Given the description of an element on the screen output the (x, y) to click on. 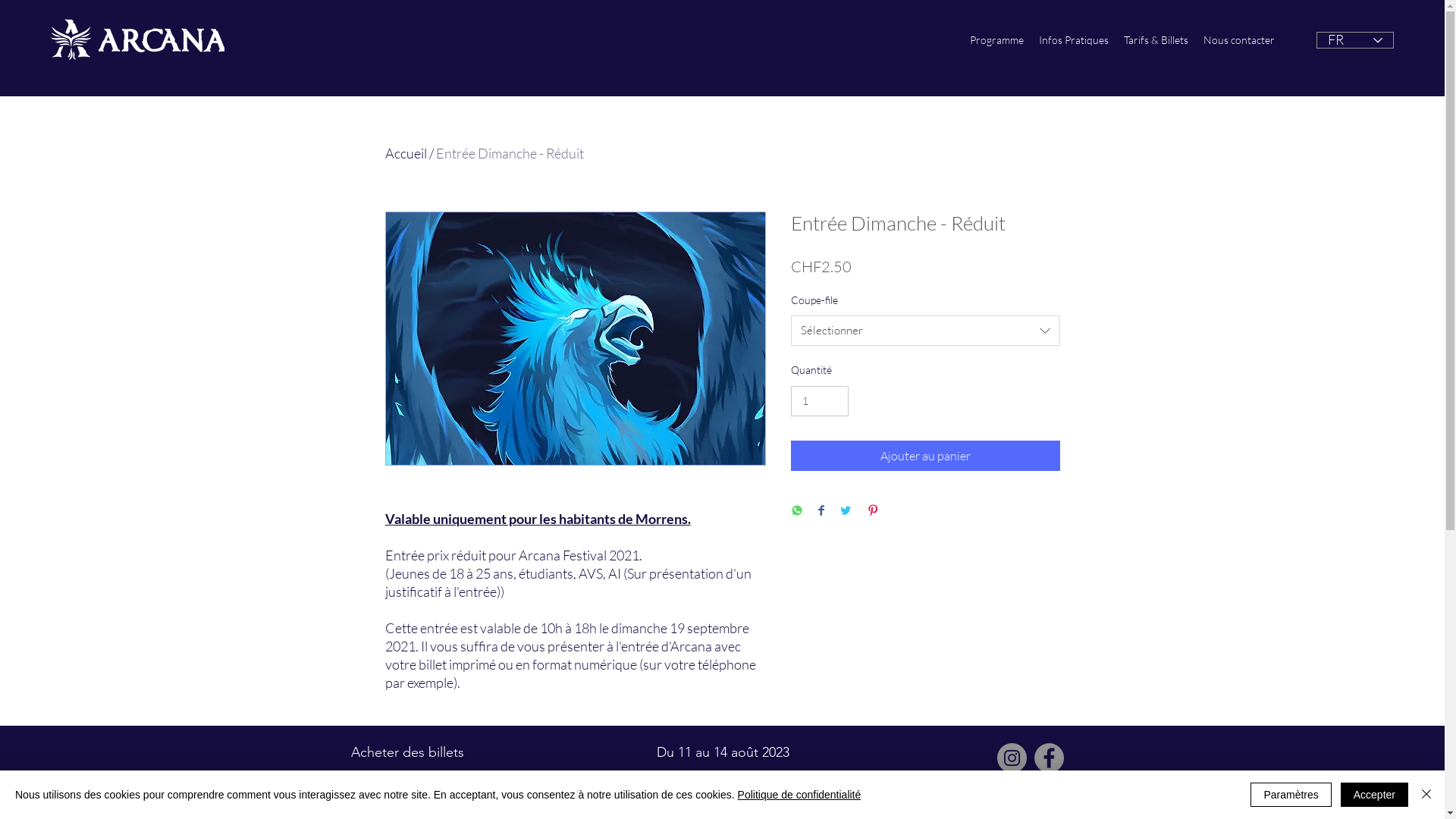
Devenir exposant Element type: text (403, 786)
Accepter Element type: text (1374, 794)
Accueil Element type: text (405, 152)
Ajouter au panier Element type: text (924, 455)
Programme Element type: text (996, 39)
Nous contacter Element type: text (1238, 39)
Tarifs & Billets Element type: text (1155, 39)
Infos Pratiques Element type: text (1073, 39)
Acheter des billets Element type: text (406, 751)
